Given the description of an element on the screen output the (x, y) to click on. 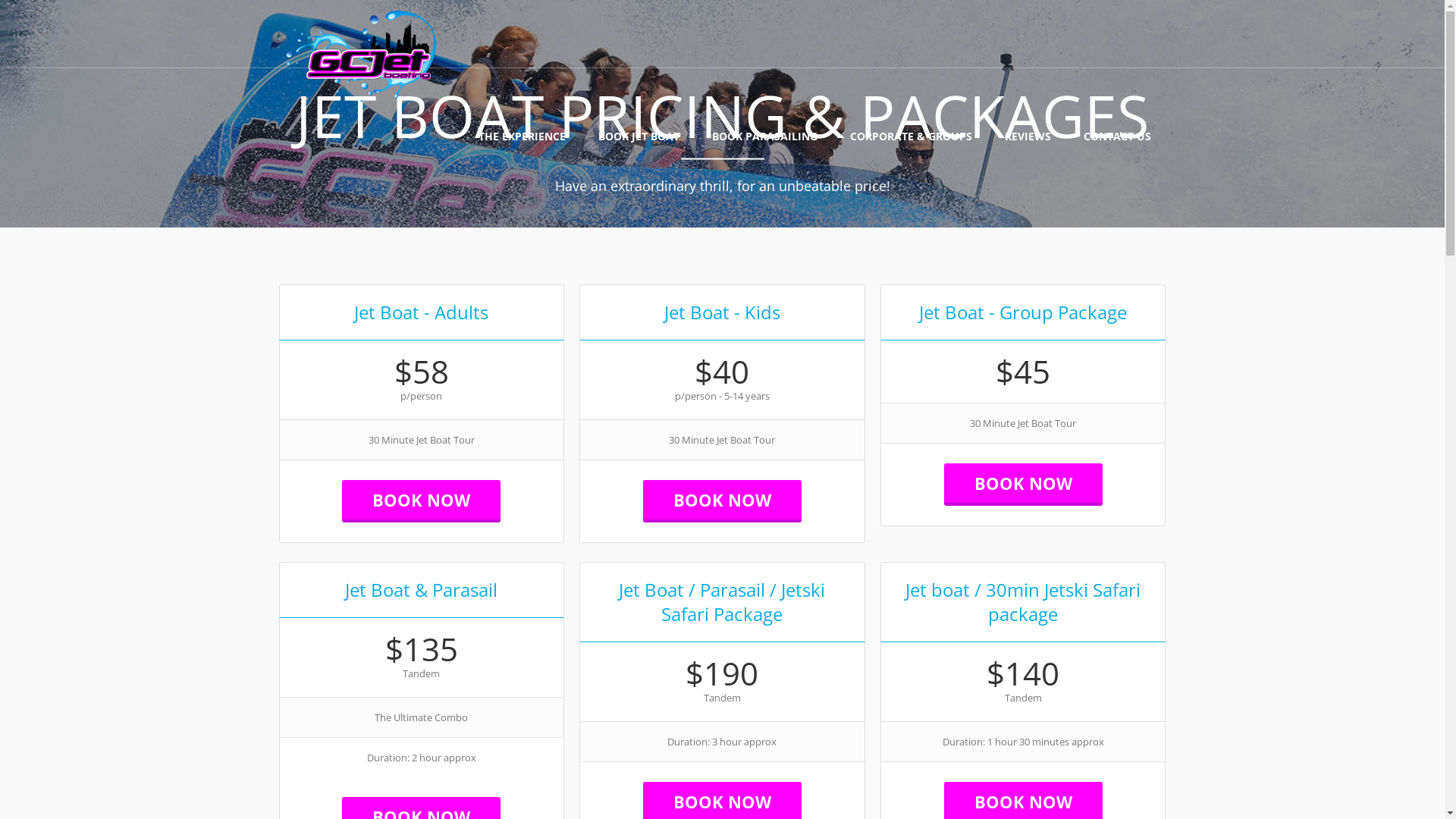
BOOK JET BOAT Element type: text (637, 136)
BOOK NOW Element type: text (1023, 482)
CORPORATE & GROUPS Element type: text (910, 136)
BOOK NOW Element type: text (722, 499)
BOOK NOW Element type: text (421, 499)
CONTACT US Element type: text (1116, 136)
BOOK PARASAILING Element type: text (763, 136)
THE EXPERIENCE Element type: text (521, 136)
REVIEWS Element type: text (1026, 136)
